Given the description of an element on the screen output the (x, y) to click on. 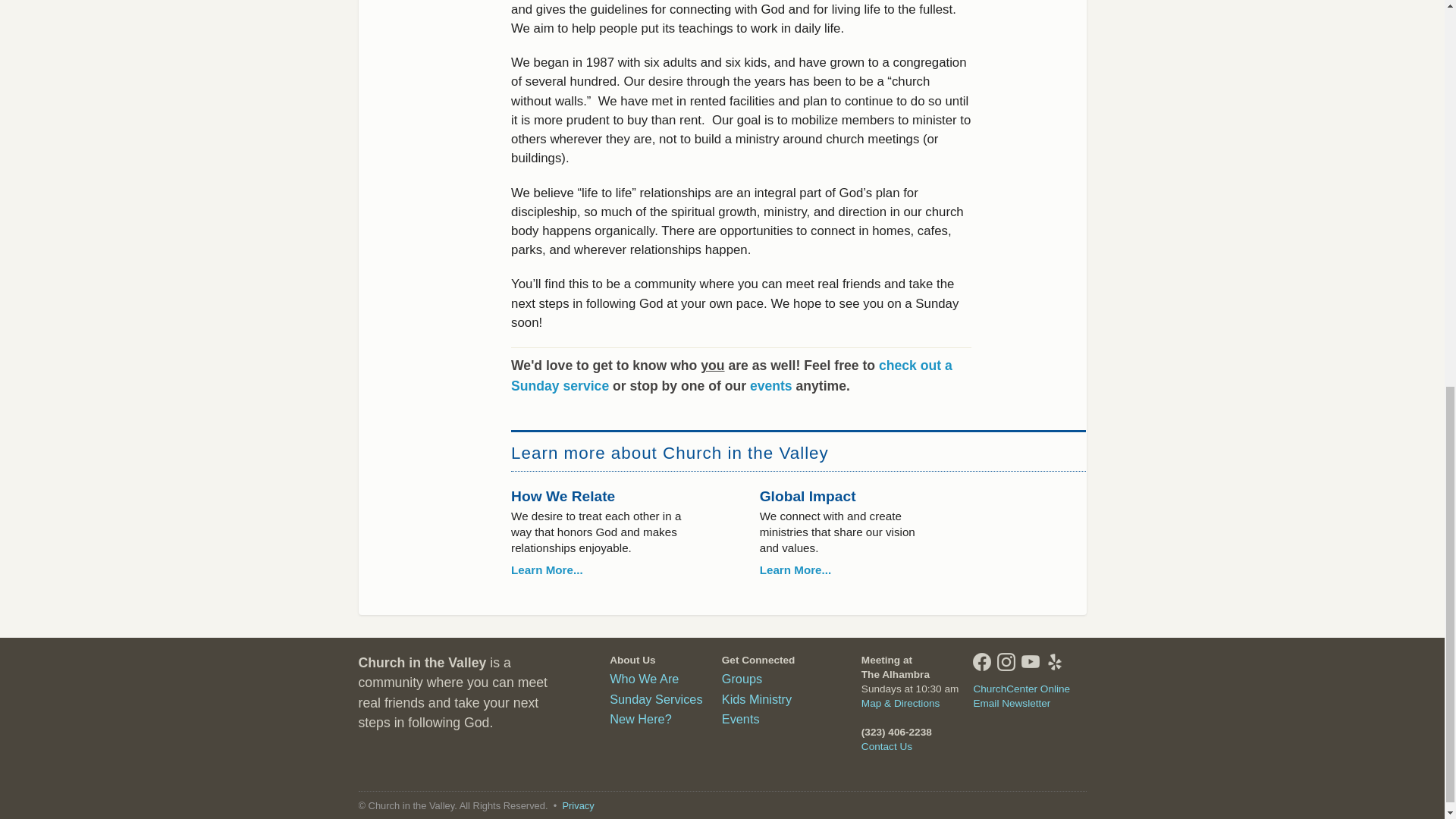
Sunday Services (655, 698)
Learn More... (795, 569)
New Here? (640, 718)
Contact Us (886, 746)
Email Newsletter (1010, 703)
Events (741, 718)
Who We Are (644, 678)
check out a Sunday service (731, 375)
Kids Ministry (757, 698)
events (770, 385)
Privacy (578, 805)
Learn More... (547, 569)
ChurchCenter Online (1021, 688)
Groups (742, 678)
